Given the description of an element on the screen output the (x, y) to click on. 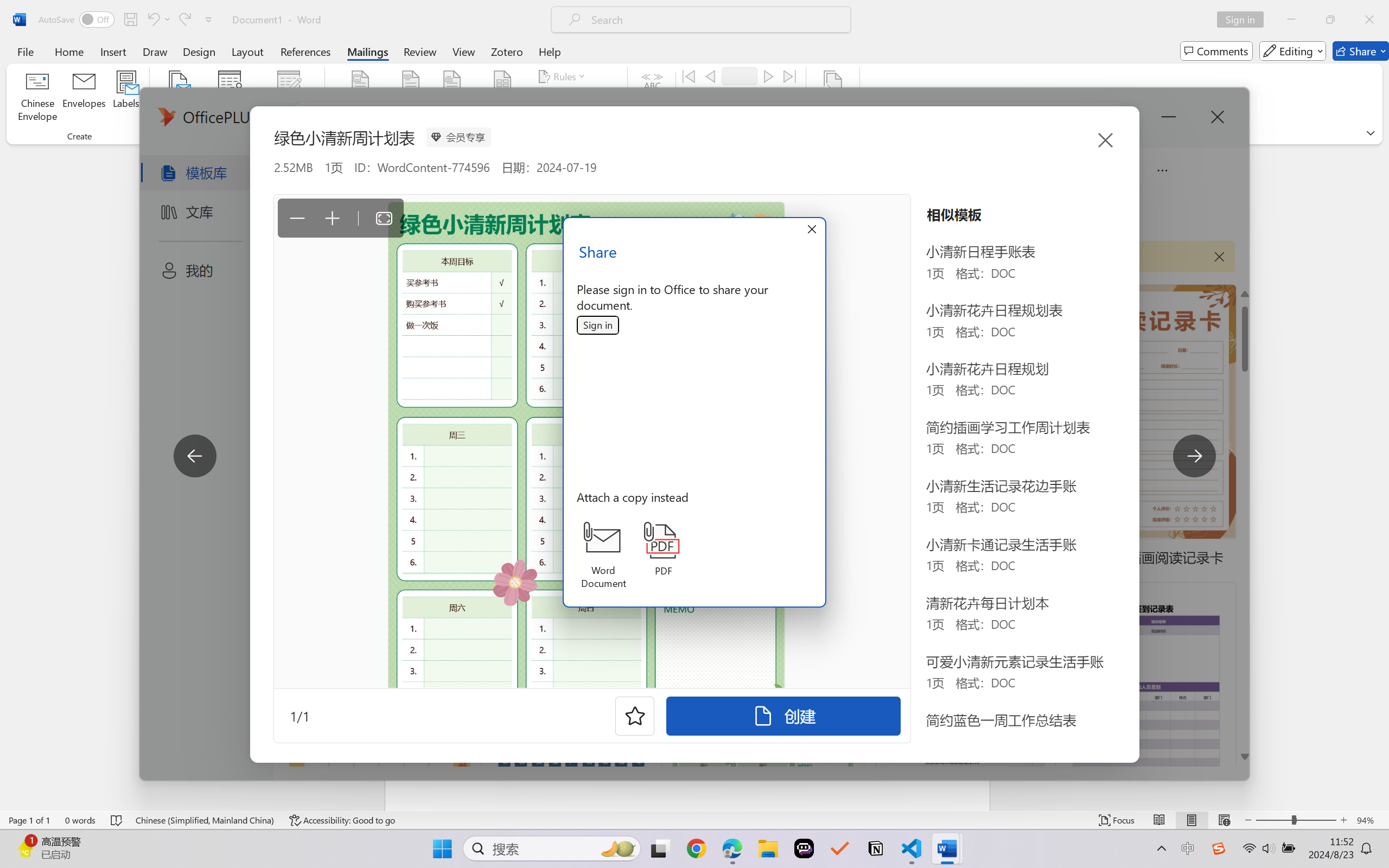
First (688, 75)
Language Chinese (Simplified, Mainland China) (205, 819)
Greeting Line... (451, 97)
Previous (709, 75)
Check for Errors... (728, 118)
Start Mail Merge (177, 97)
Address Block... (410, 97)
Editing (1292, 50)
